Given the description of an element on the screen output the (x, y) to click on. 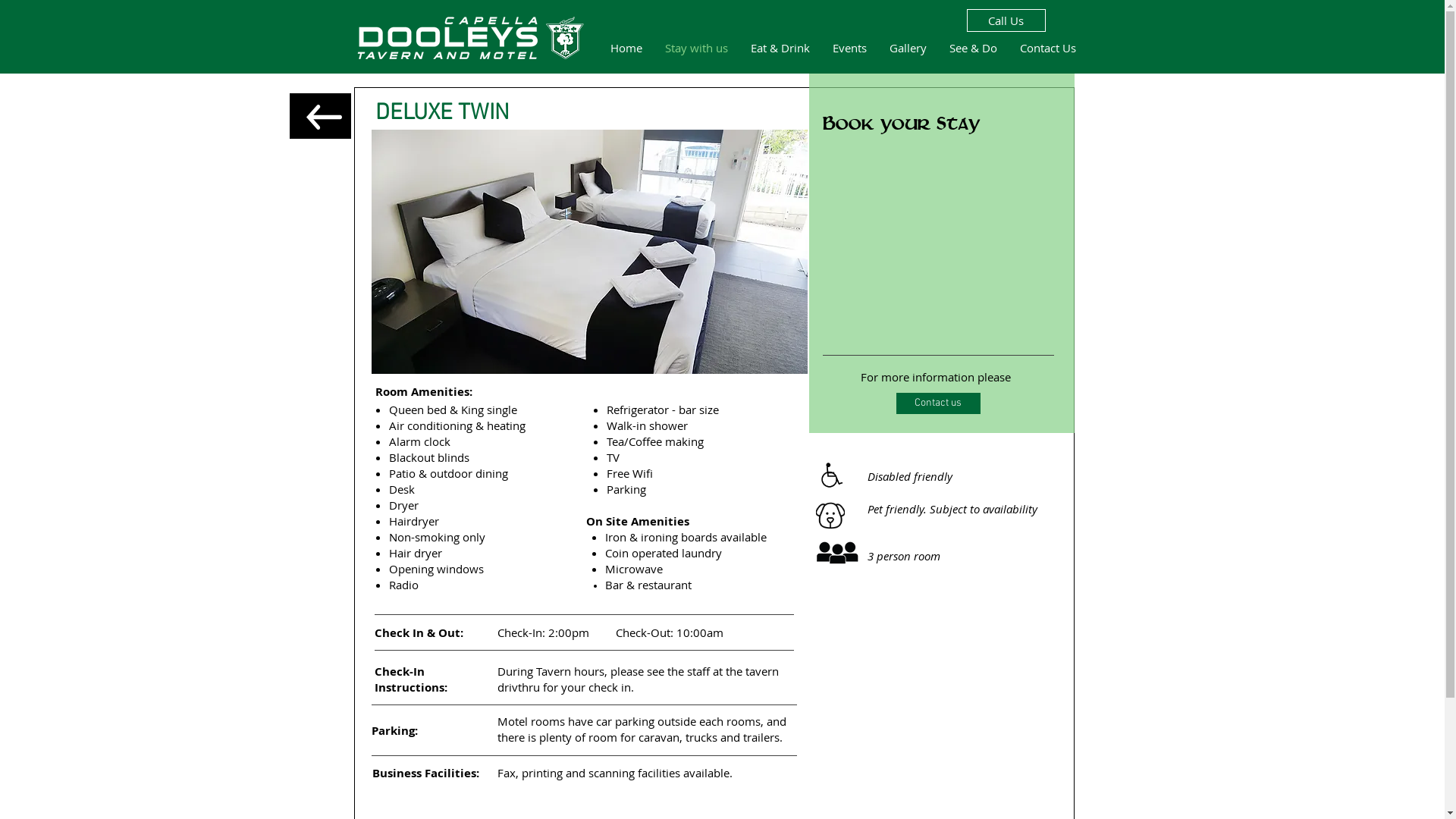
Call Us Element type: text (1005, 20)
Embedded Content Element type: hover (934, 251)
Stay with us Element type: text (696, 47)
Home Element type: text (626, 47)
Contact Us Element type: text (1047, 47)
See & Do Element type: text (972, 47)
Eat & Drink Element type: text (779, 47)
Events Element type: text (848, 47)
Contact us Element type: text (938, 403)
Gallery Element type: text (908, 47)
